Given the description of an element on the screen output the (x, y) to click on. 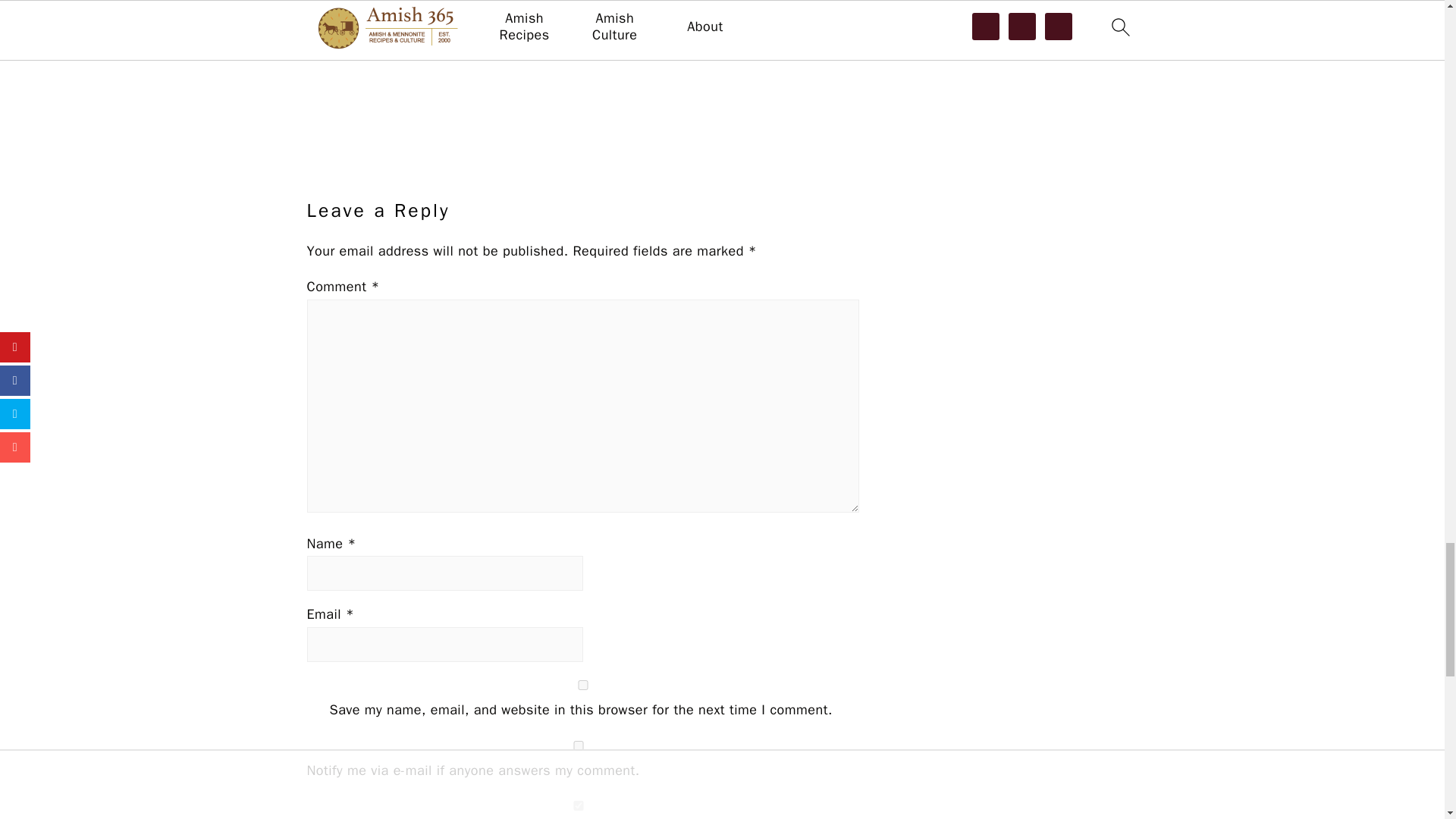
on (576, 746)
yes (582, 685)
1 (576, 805)
